Given the description of an element on the screen output the (x, y) to click on. 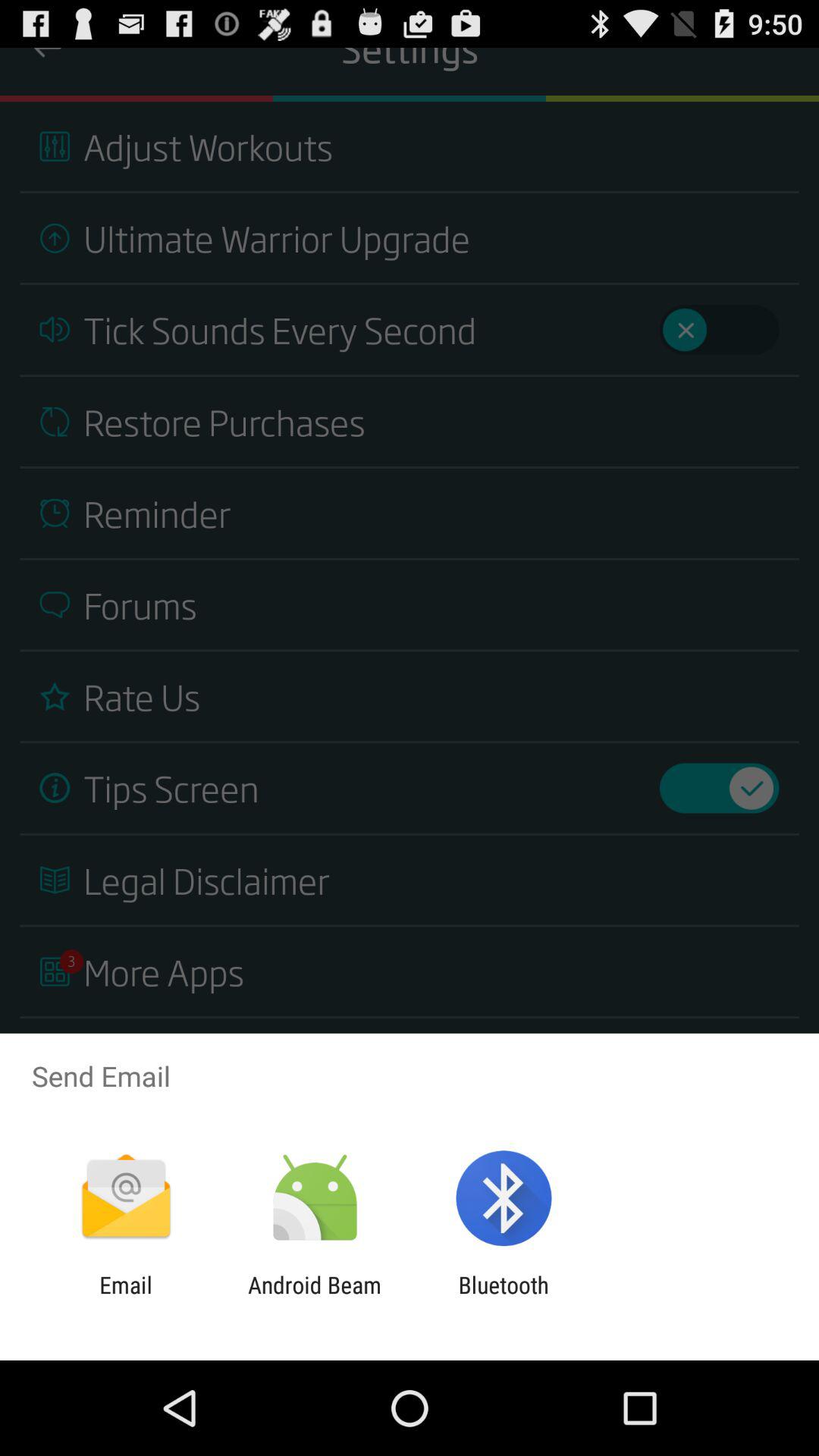
flip to the android beam item (314, 1298)
